Given the description of an element on the screen output the (x, y) to click on. 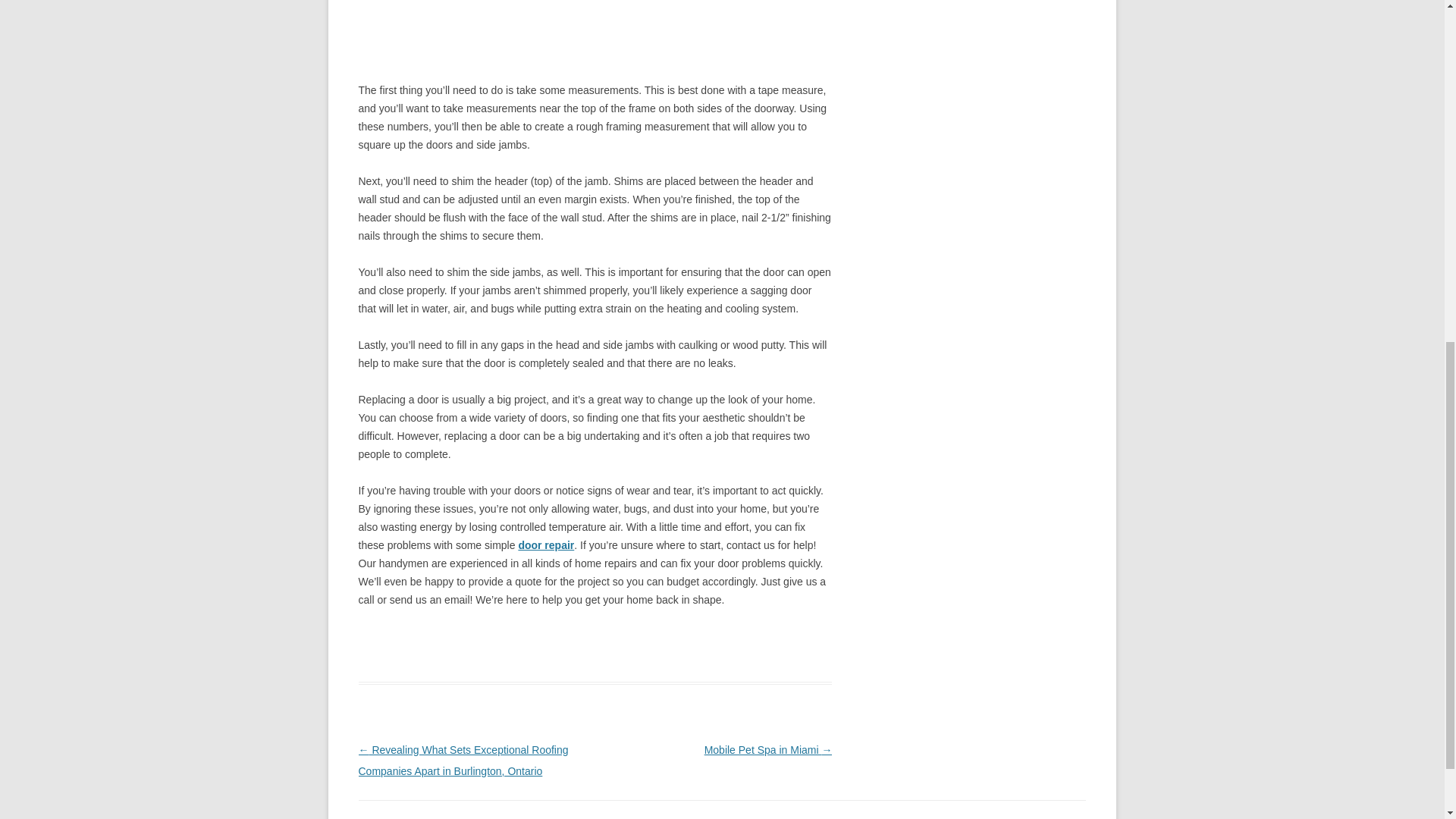
door repair (545, 544)
